Given the description of an element on the screen output the (x, y) to click on. 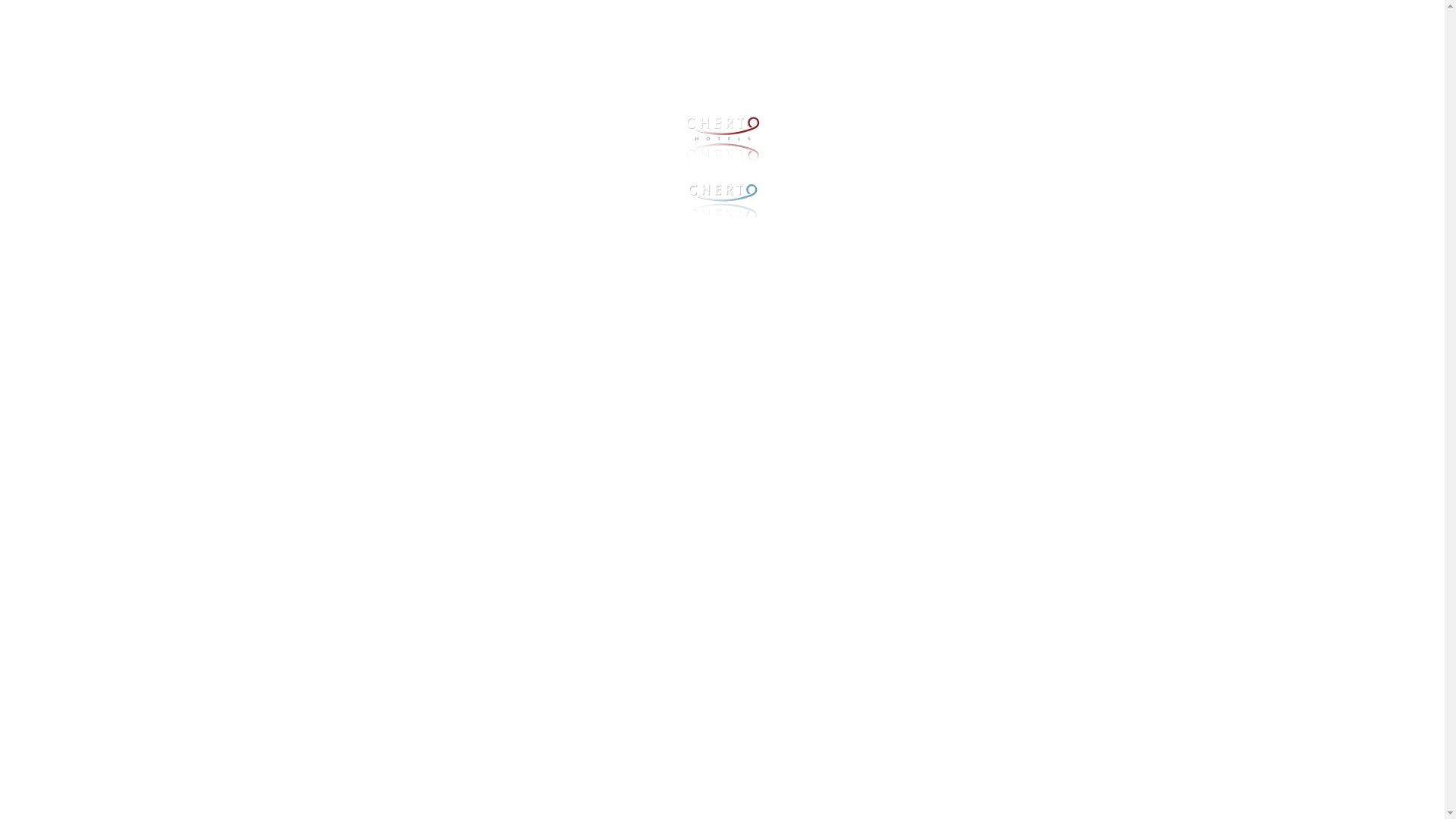
Hotel Cosy Bouillon  Element type: hover (721, 140)
Creative Hospitality Expertise Element type: hover (721, 221)
Creative Hospitality Expertise Element type: hover (721, 202)
